Given the description of an element on the screen output the (x, y) to click on. 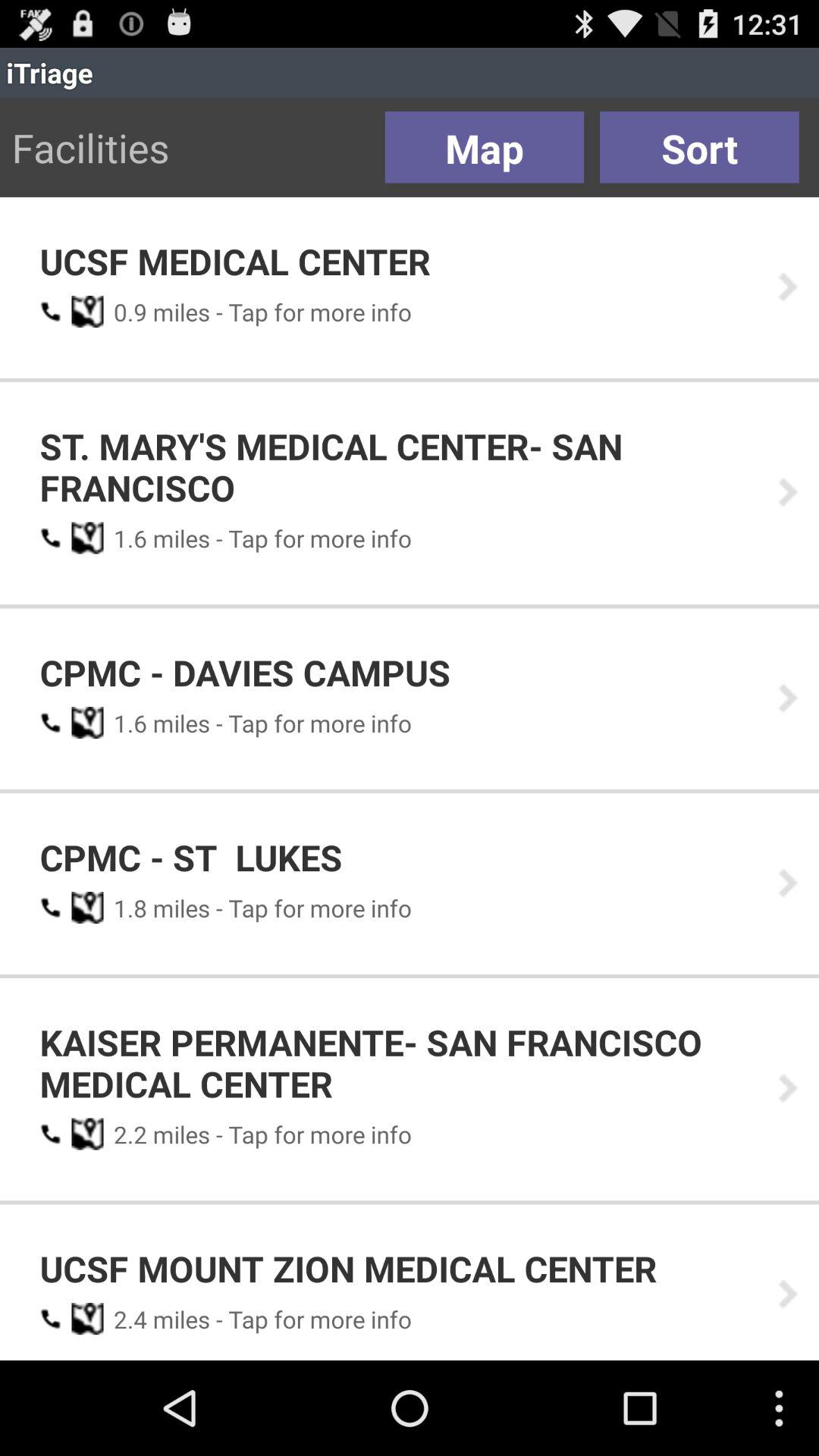
open item to the right of map item (699, 147)
